Given the description of an element on the screen output the (x, y) to click on. 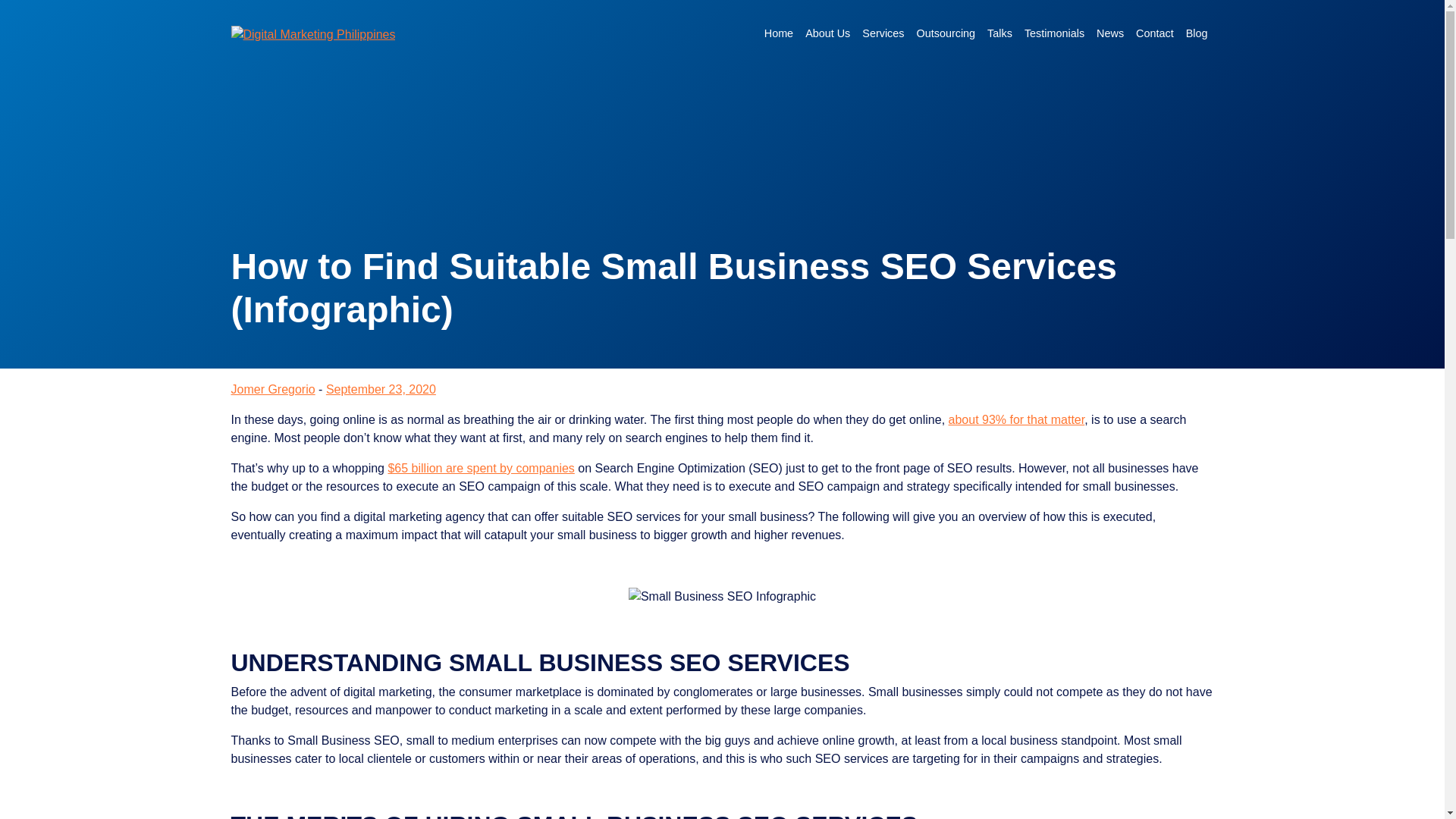
Home (778, 33)
Outsourcing (946, 33)
Jomer Gregorio (272, 389)
About Us (827, 33)
Testimonials (1053, 33)
Services (883, 33)
September 23, 2020 (380, 389)
Talks (999, 33)
News (1109, 33)
Blog (1196, 33)
